Given the description of an element on the screen output the (x, y) to click on. 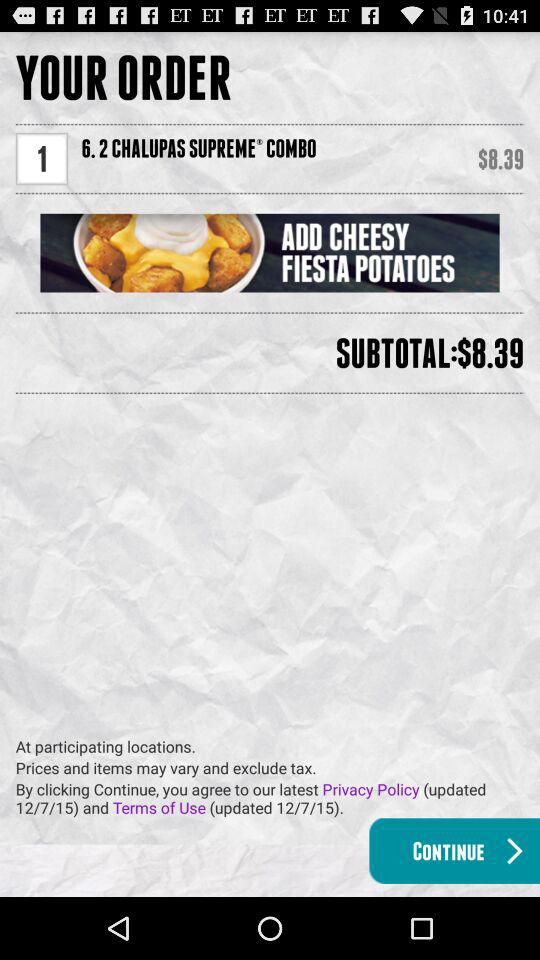
click item below the your order app (41, 158)
